Given the description of an element on the screen output the (x, y) to click on. 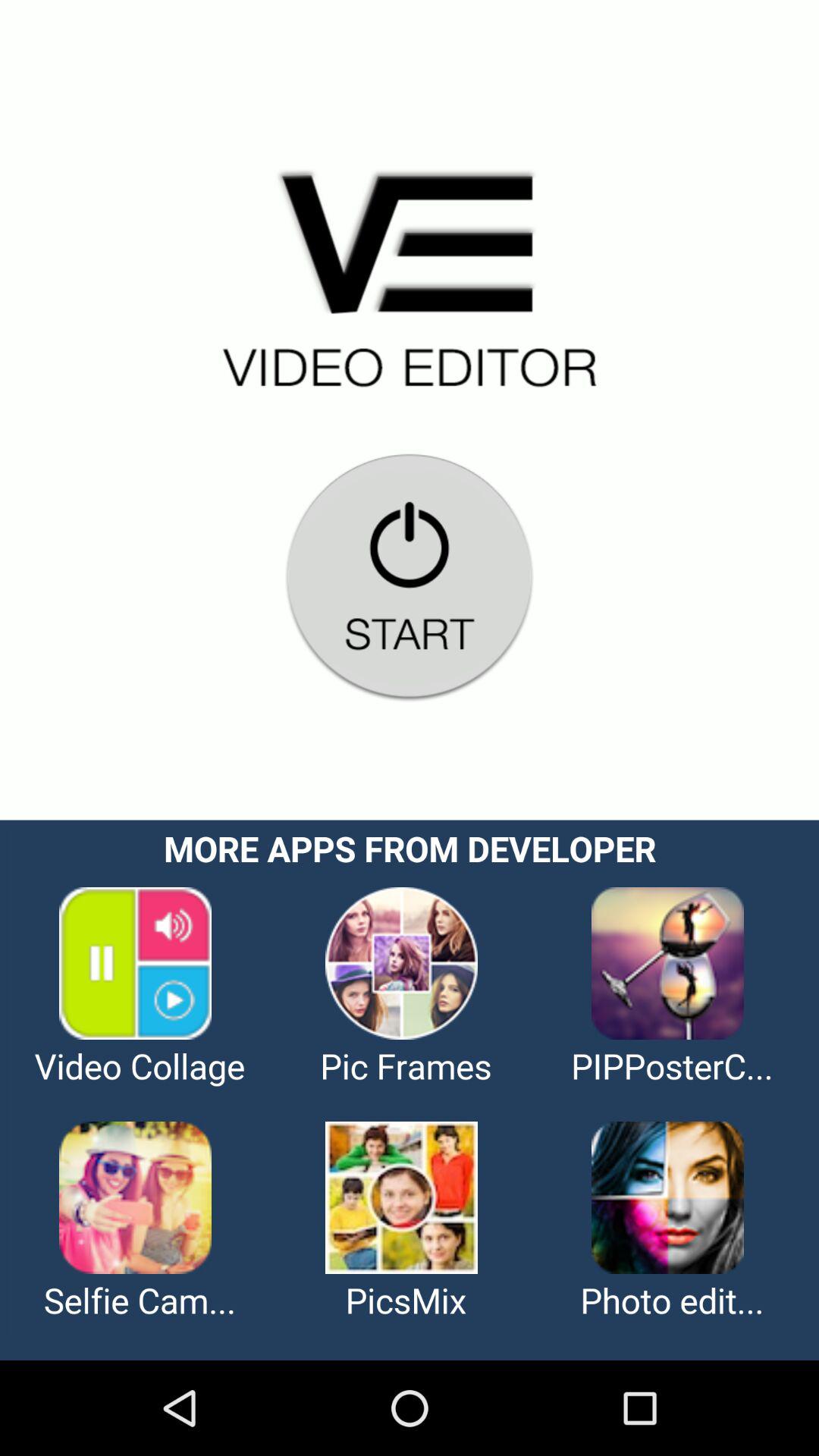
view the advertisement (409, 1090)
